Given the description of an element on the screen output the (x, y) to click on. 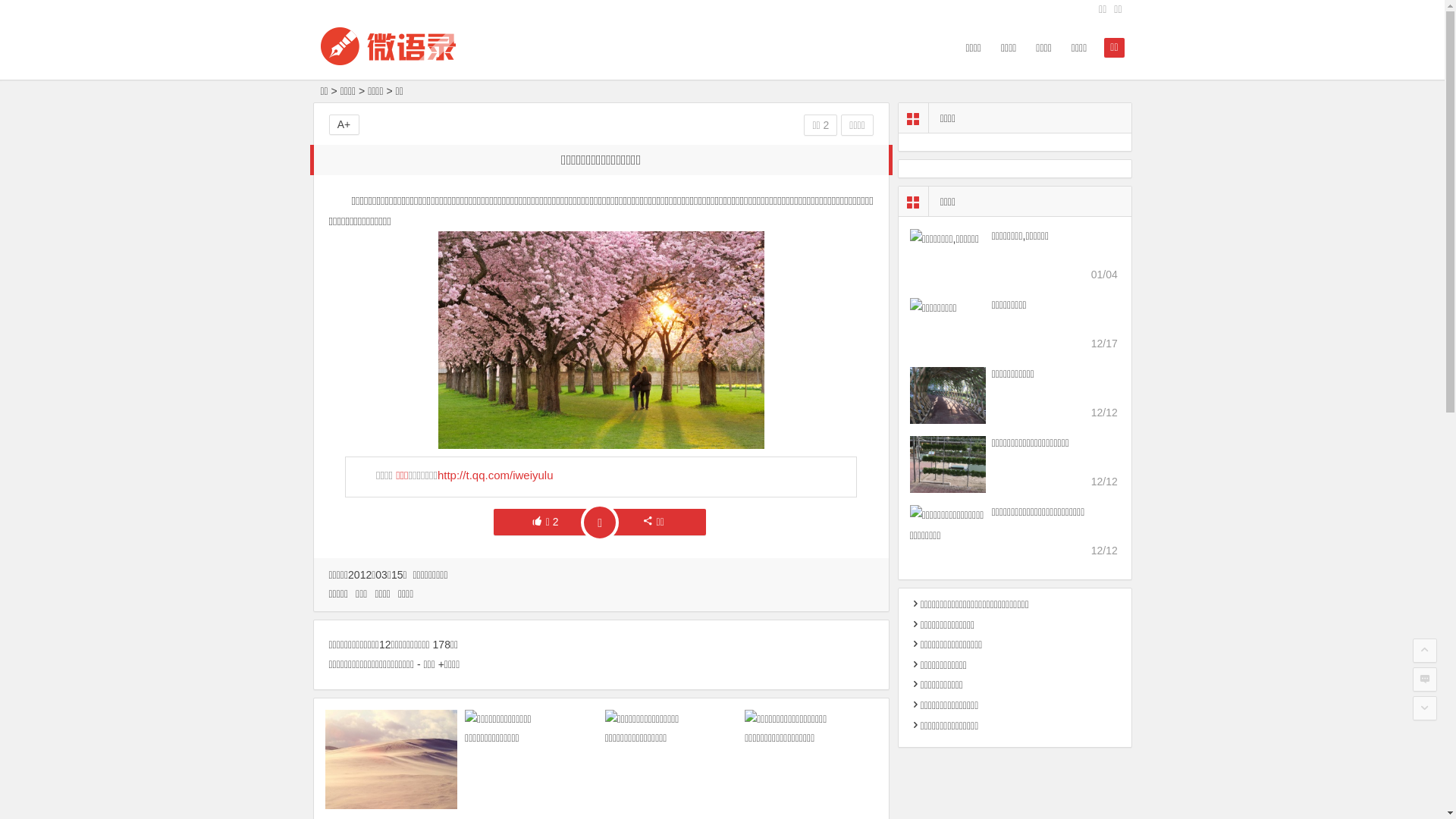
http://t.qq.com/iweiyulu Element type: text (495, 474)
